Given the description of an element on the screen output the (x, y) to click on. 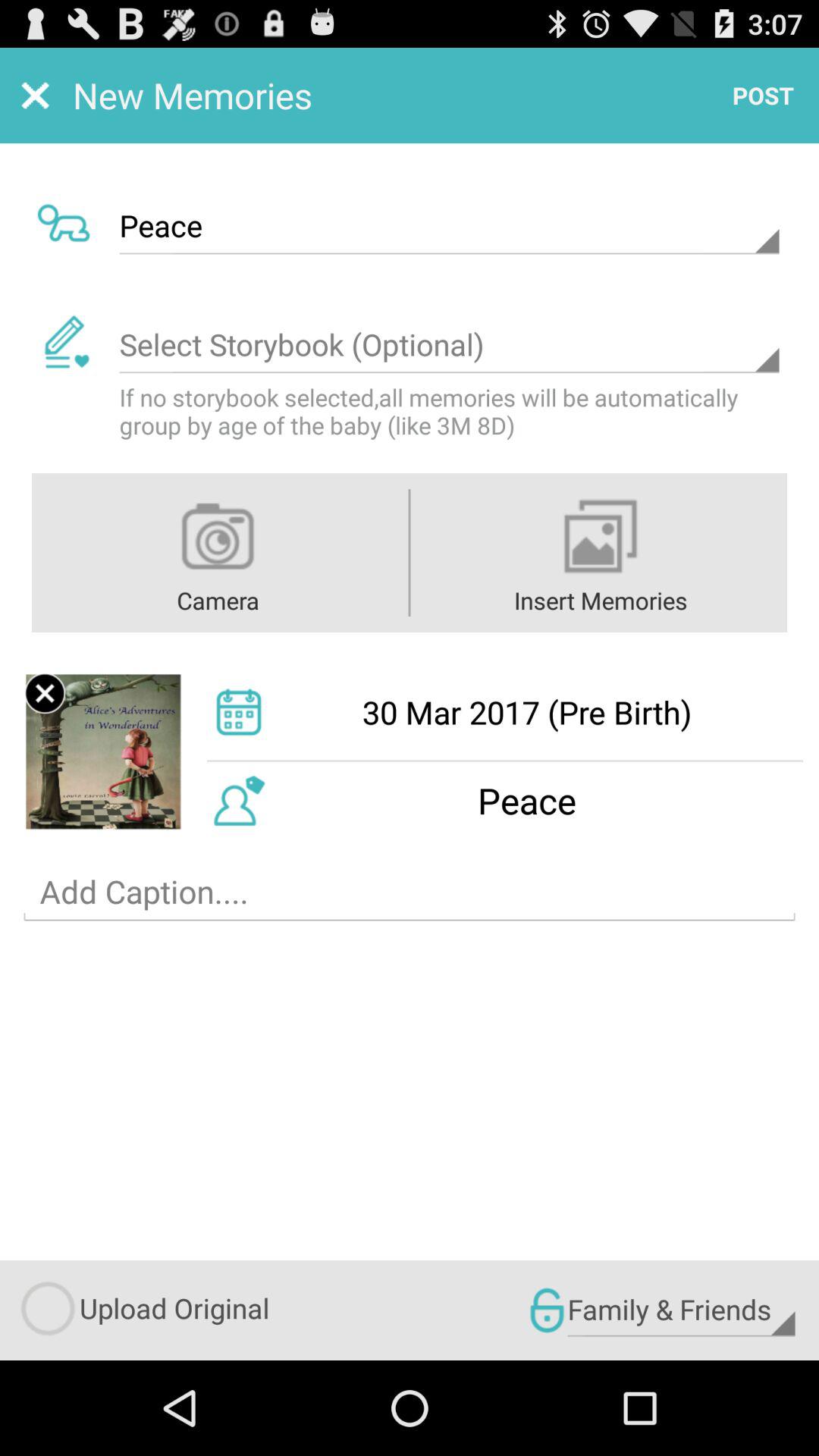
delete photo (44, 693)
